Given the description of an element on the screen output the (x, y) to click on. 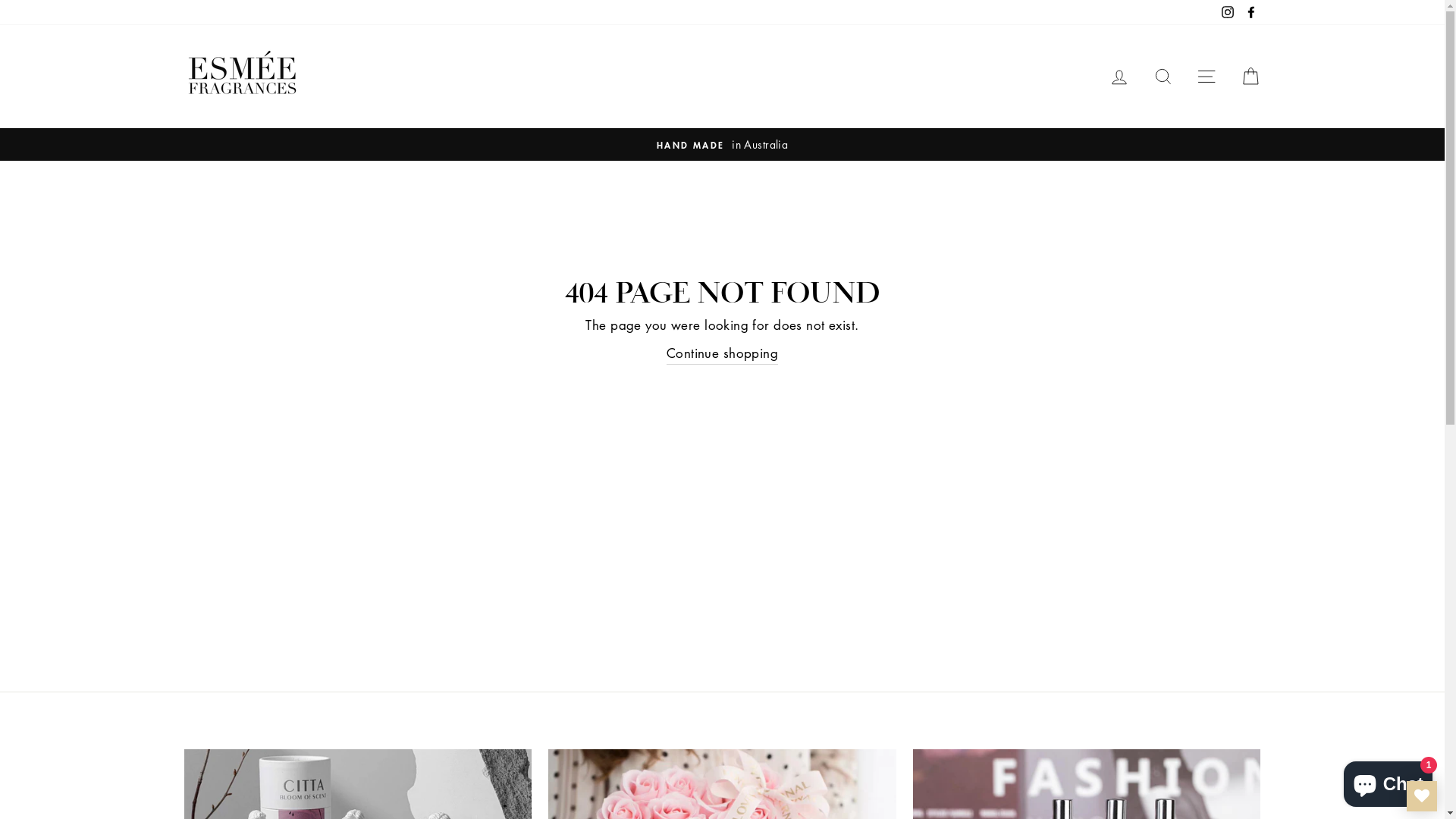
MY WISHLIST Element type: text (1421, 796)
SEARCH Element type: text (1163, 76)
Continue shopping Element type: text (722, 353)
Facebook Element type: text (1250, 12)
LOG IN Element type: text (1119, 76)
CART Element type: text (1249, 76)
Shopify online store chat Element type: hover (1388, 780)
Instagram Element type: text (1227, 12)
Skip to content Element type: text (0, 0)
SITE NAVIGATION Element type: text (1206, 76)
